Given the description of an element on the screen output the (x, y) to click on. 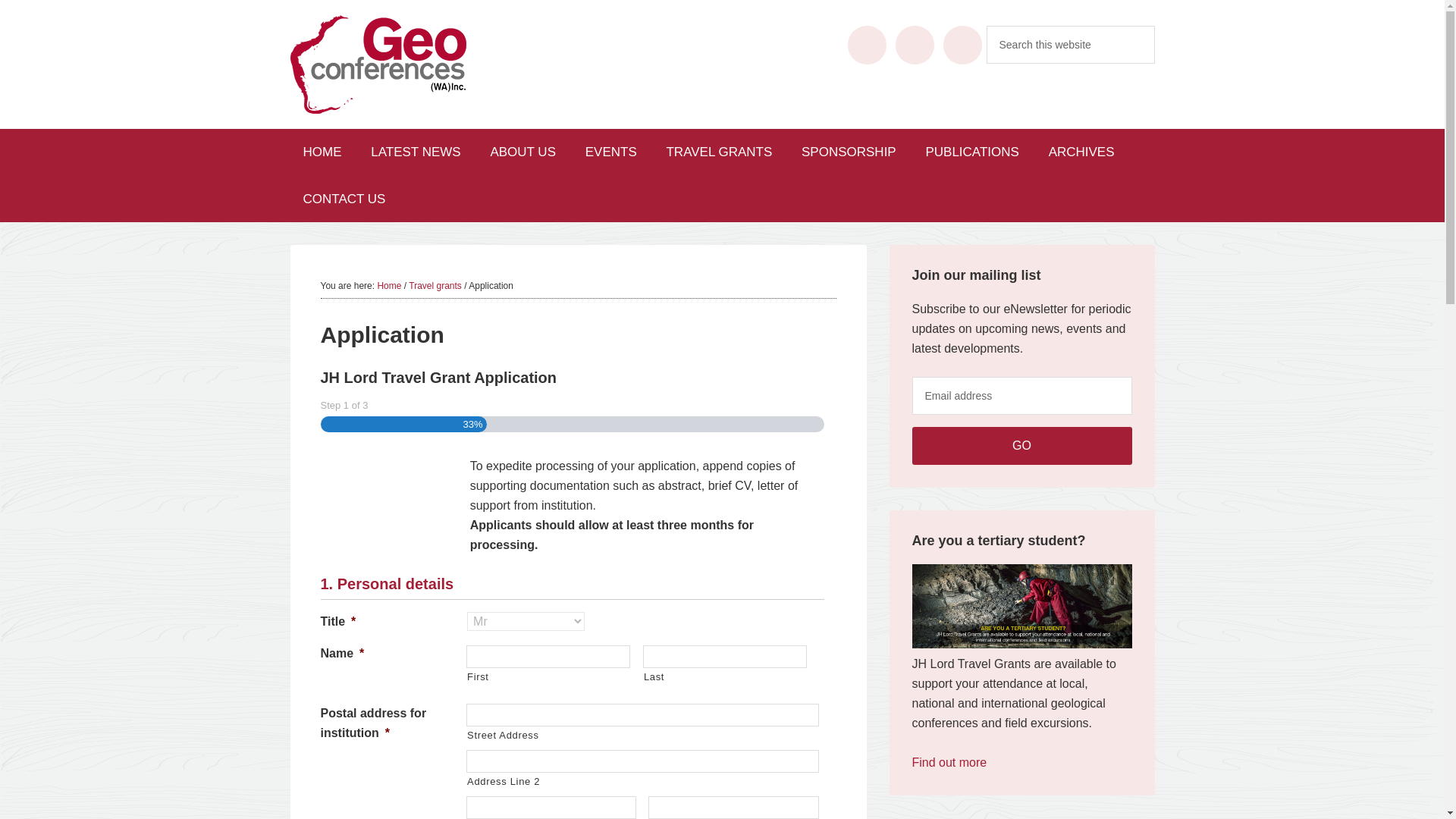
CONTACT US (343, 199)
ARCHIVES (1080, 152)
Go (1021, 445)
EVENTS (610, 152)
Find out more (949, 762)
HOME (321, 152)
SPONSORSHIP (848, 152)
PUBLICATIONS (971, 152)
